Given the description of an element on the screen output the (x, y) to click on. 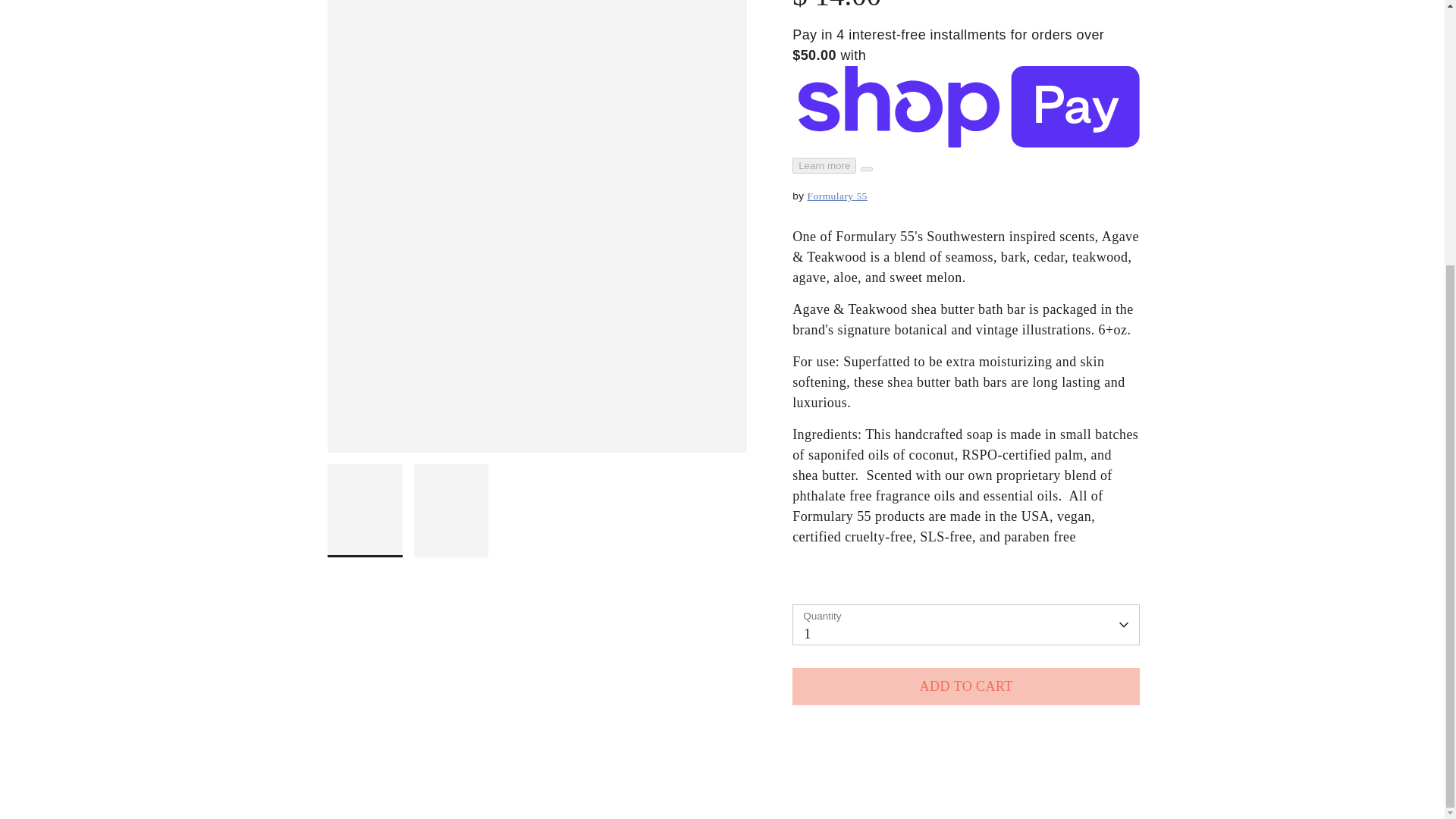
American Express (961, 384)
Discover (1030, 384)
Mastercard (1098, 384)
Meta Pay (1063, 384)
PayPal (1133, 384)
Diners Club (995, 384)
1 (965, 613)
